Given the description of an element on the screen output the (x, y) to click on. 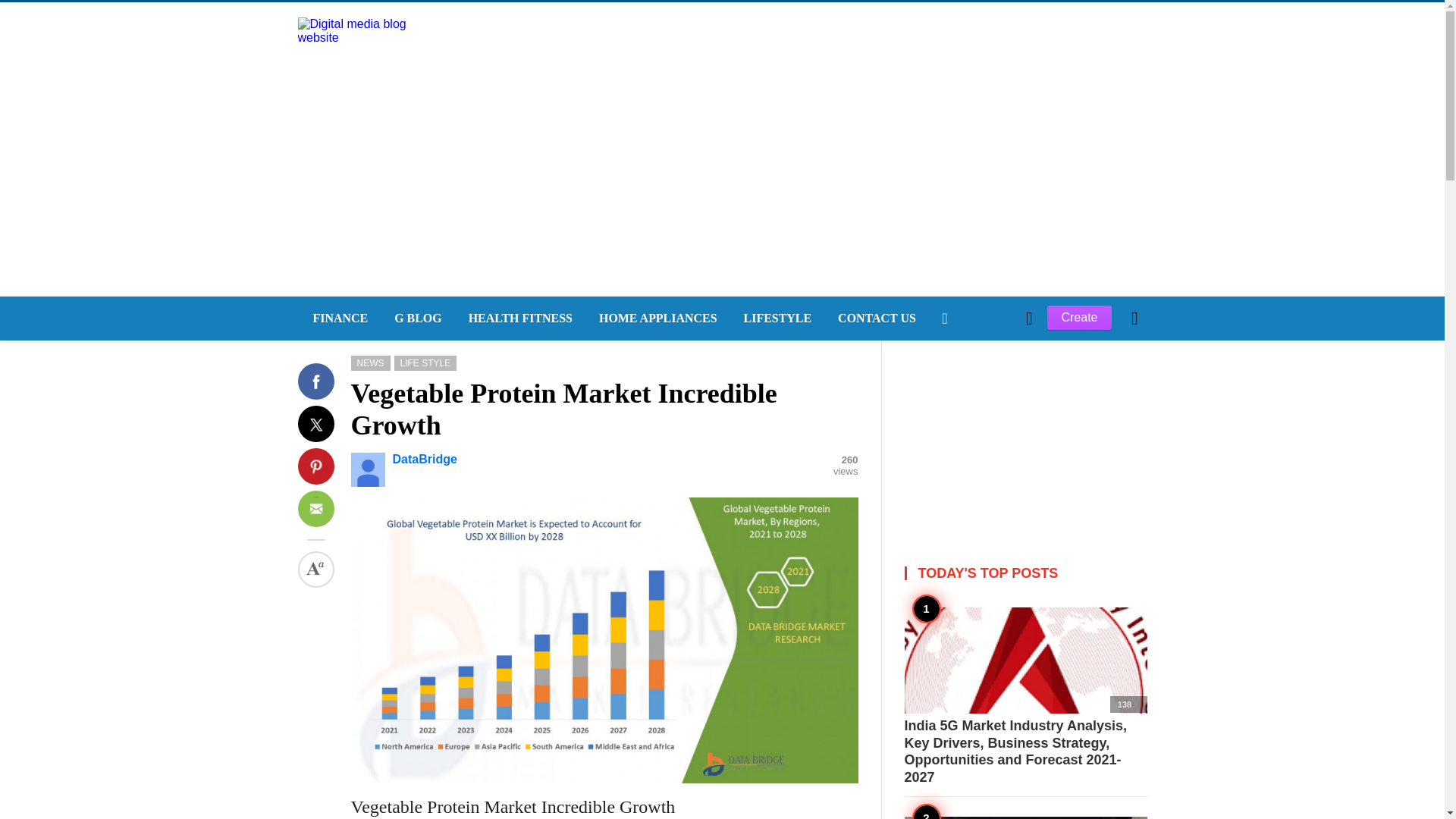
sign up (964, 575)
LIFESTYLE (776, 318)
G BLOG (415, 318)
HEALTH FITNESS (517, 318)
FINANCE (337, 318)
Log in (962, 575)
Advertisement (1025, 434)
